Given the description of an element on the screen output the (x, y) to click on. 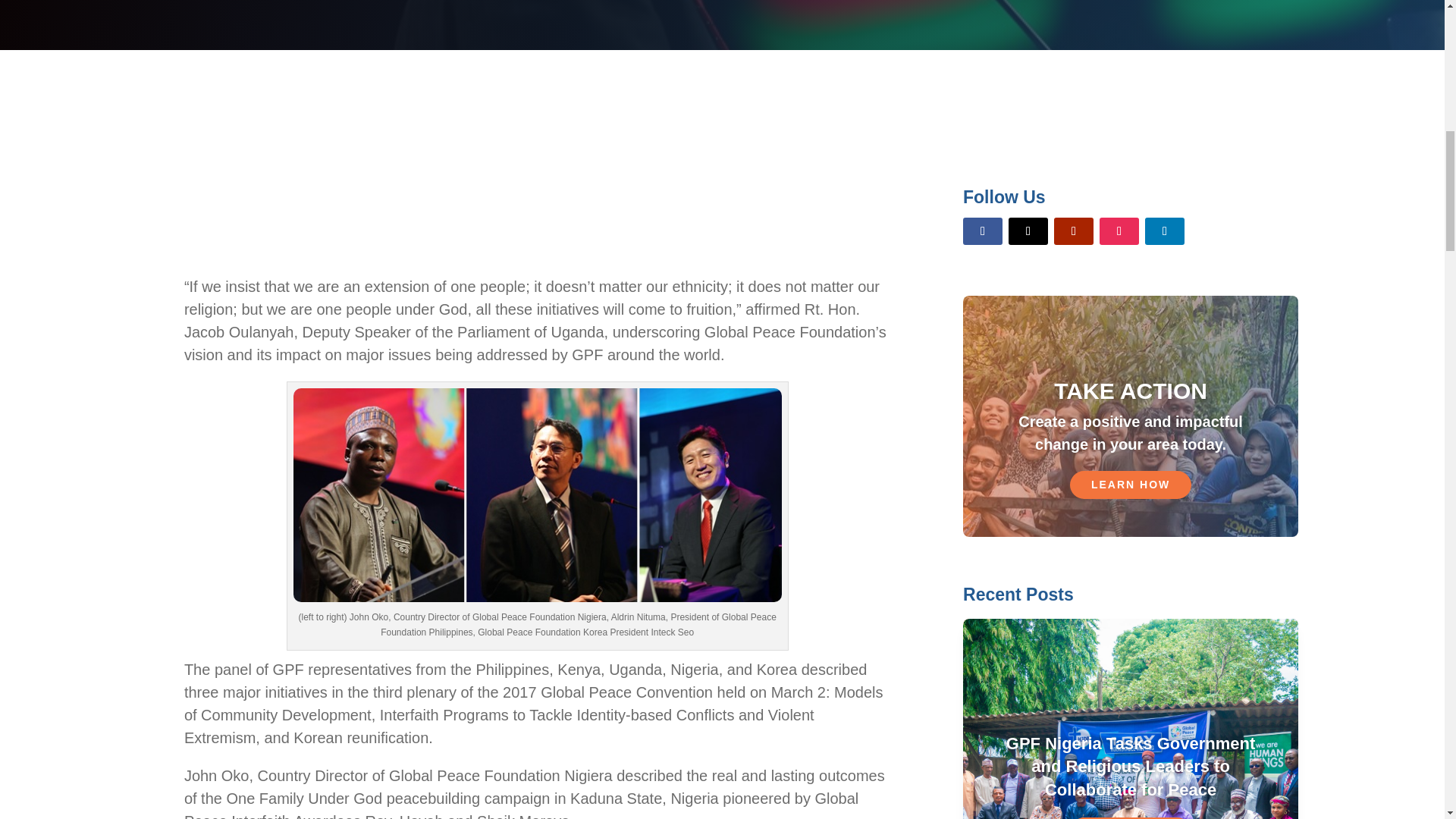
Follow on Instagram (1118, 230)
Follow on LinkedIn (1164, 230)
Follow on X (1028, 230)
Follow on Youtube (1073, 230)
Follow on Facebook (982, 230)
